Given the description of an element on the screen output the (x, y) to click on. 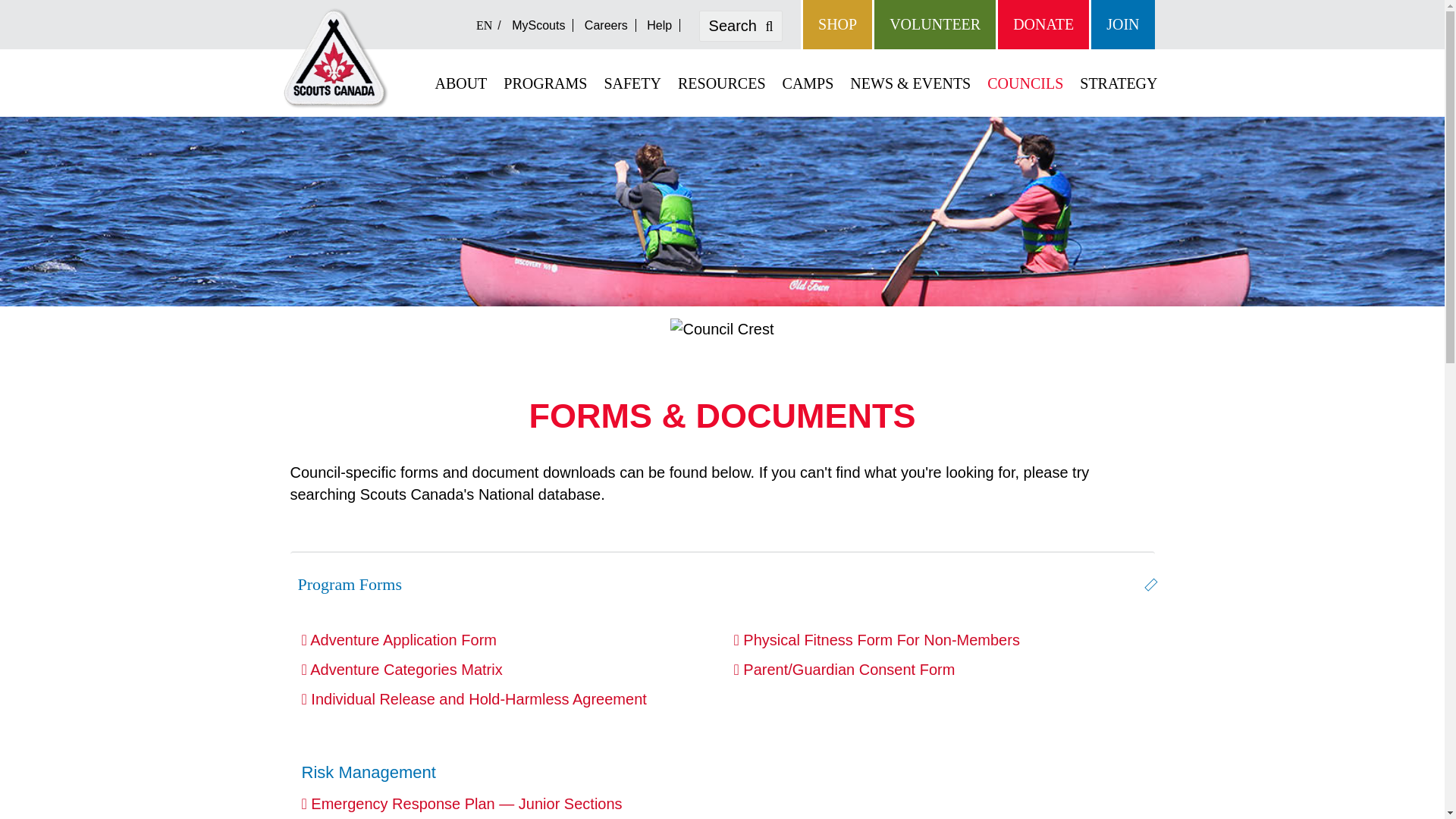
Return to the homepage (335, 57)
VOLUNTEER (933, 24)
ABOUT (460, 83)
Help (659, 24)
English (486, 24)
MyScouts (538, 24)
JOIN (1121, 24)
Careers (606, 24)
SHOP (836, 24)
DONATE (1042, 24)
